Given the description of an element on the screen output the (x, y) to click on. 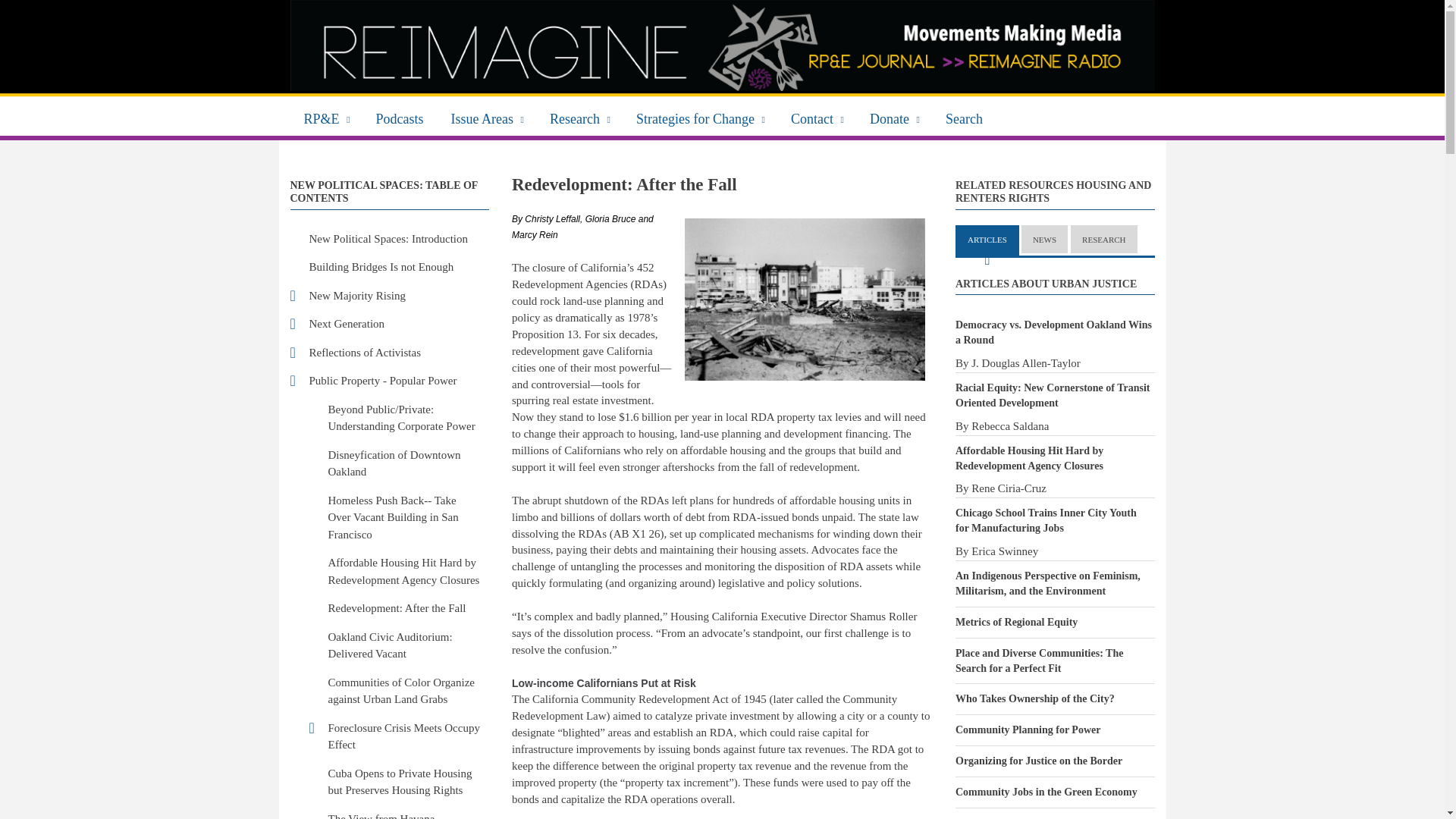
Research (579, 117)
Podcasts (400, 117)
Strategies for Change (700, 117)
Home (721, 45)
Issue Areas (486, 117)
